Given the description of an element on the screen output the (x, y) to click on. 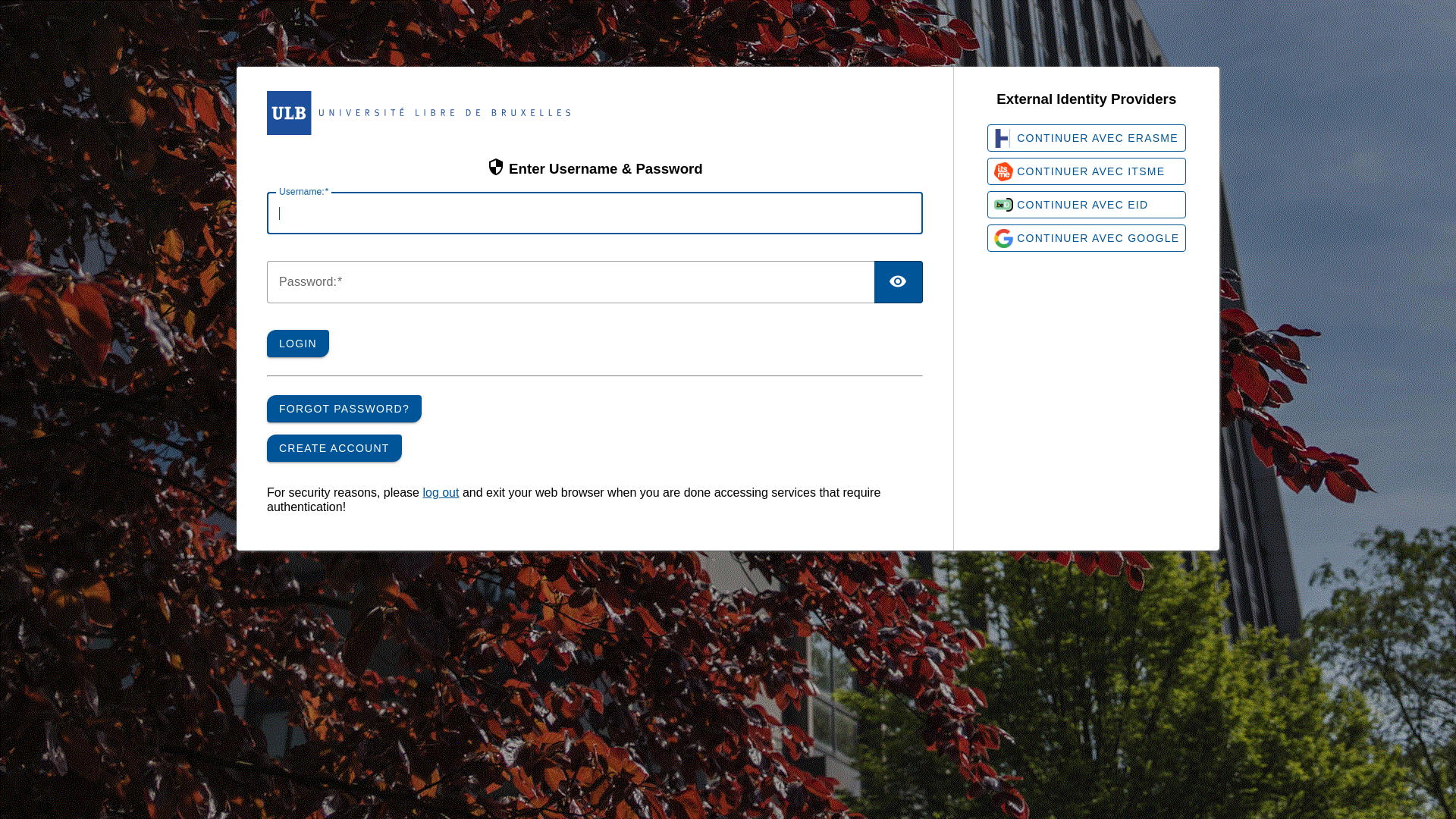
log out Element type: text (440, 492)
 CONTINUER AVEC ITSME Element type: text (1086, 171)
 CONTINUER AVEC ERASME Element type: text (1086, 137)
FORGOT PASSWORD? Element type: text (343, 408)
 CONTINUER AVEC EID Element type: text (1086, 204)
 CONTINUER AVEC GOOGLE Element type: text (1086, 237)
TOGGLE PASSWORD Element type: text (898, 281)
LOGIN Element type: text (297, 343)
CREATE ACCOUNT Element type: text (333, 447)
